Given the description of an element on the screen output the (x, y) to click on. 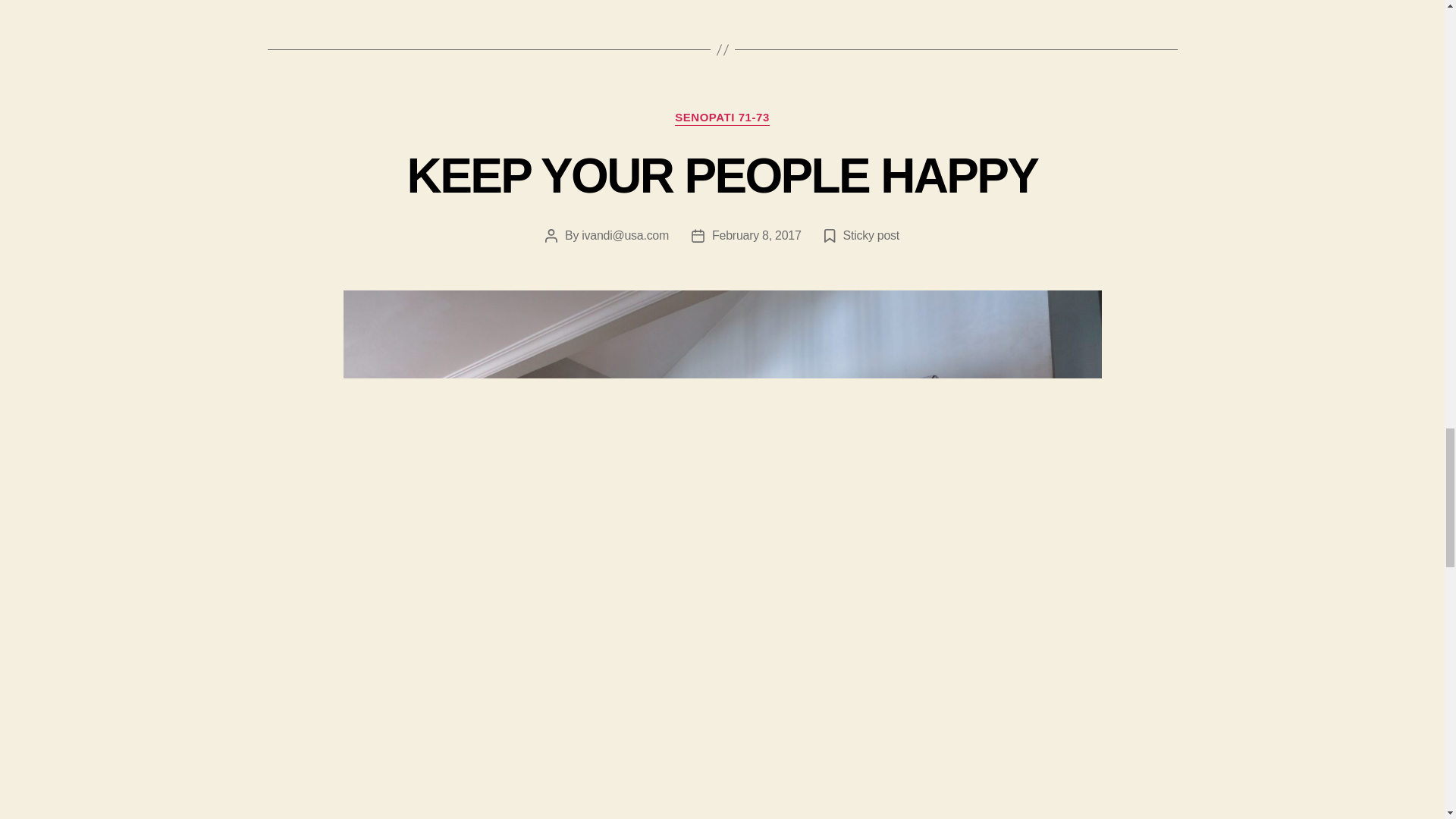
SENOPATI 71-73 (722, 118)
February 8, 2017 (756, 235)
KEEP YOUR PEOPLE HAPPY (722, 175)
